Given the description of an element on the screen output the (x, y) to click on. 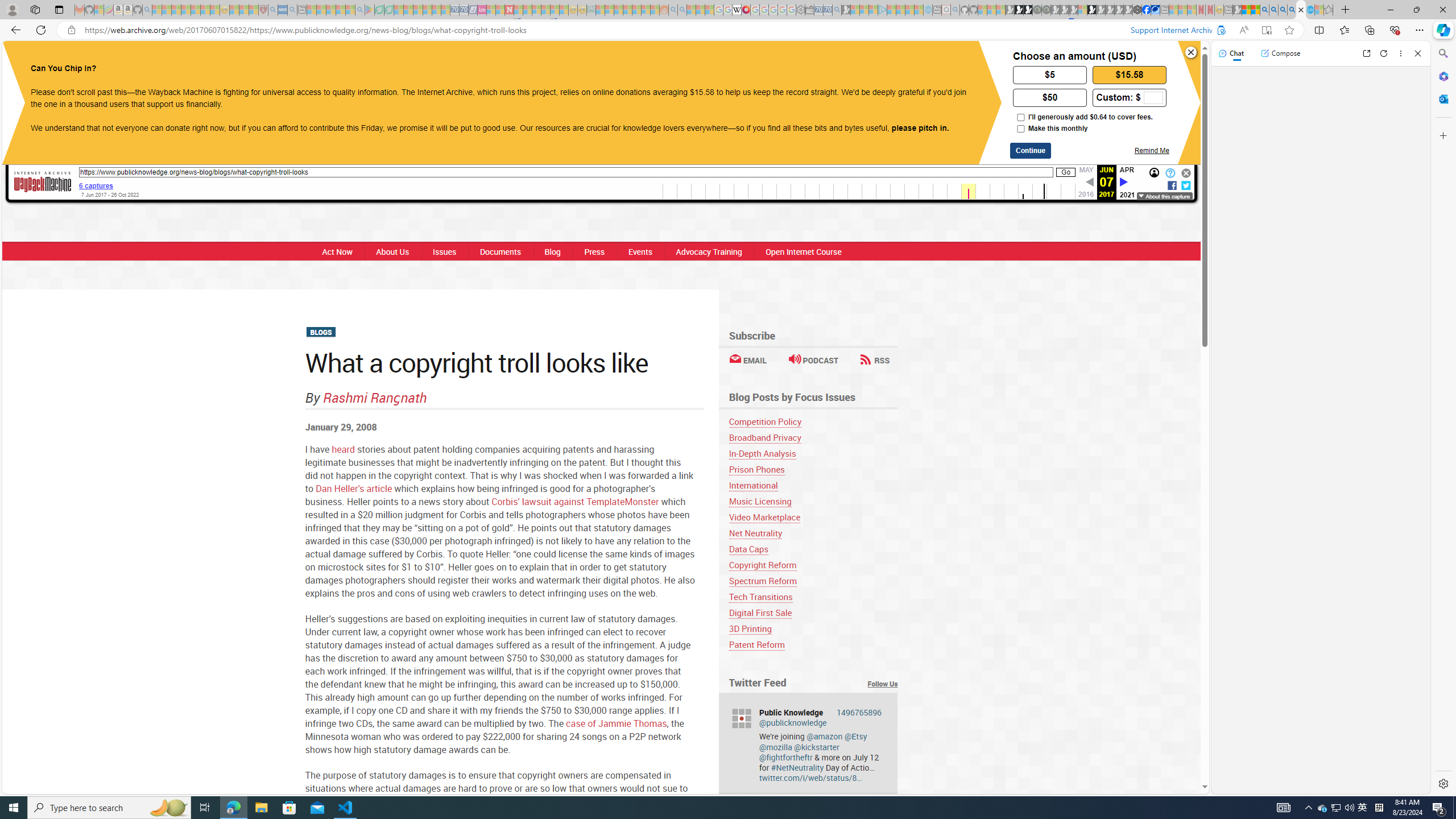
Close banner (1190, 52)
FACEBOOK (647, 60)
APR (1126, 169)
Kinda Frugal - MSN - Sleeping (636, 9)
International (752, 485)
AutomationID: wmtbURL (566, 172)
Jobs - lastminute.com Investor Portal - Sleeping (482, 9)
